Given the description of an element on the screen output the (x, y) to click on. 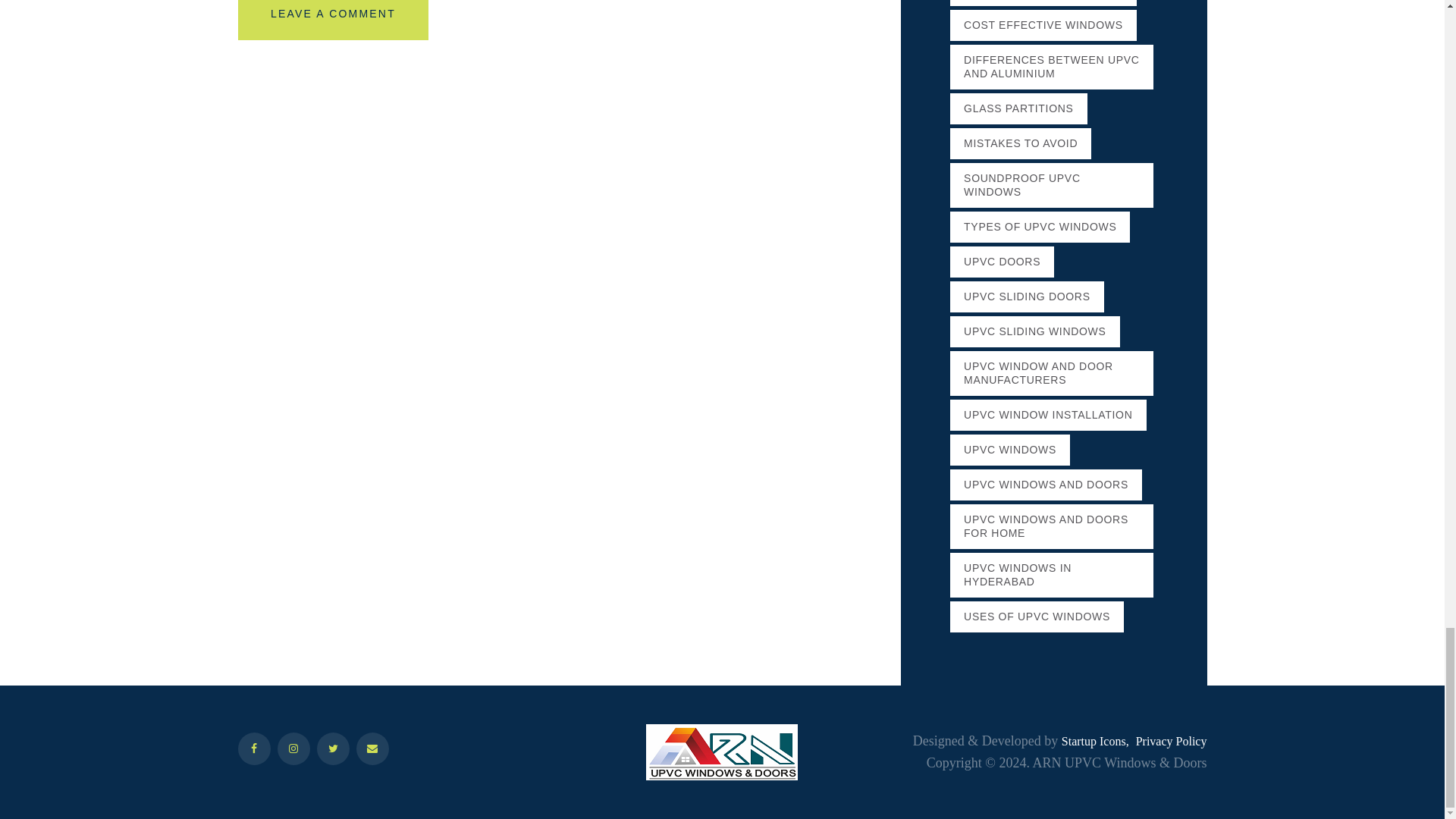
Leave a comment (333, 20)
